Given the description of an element on the screen output the (x, y) to click on. 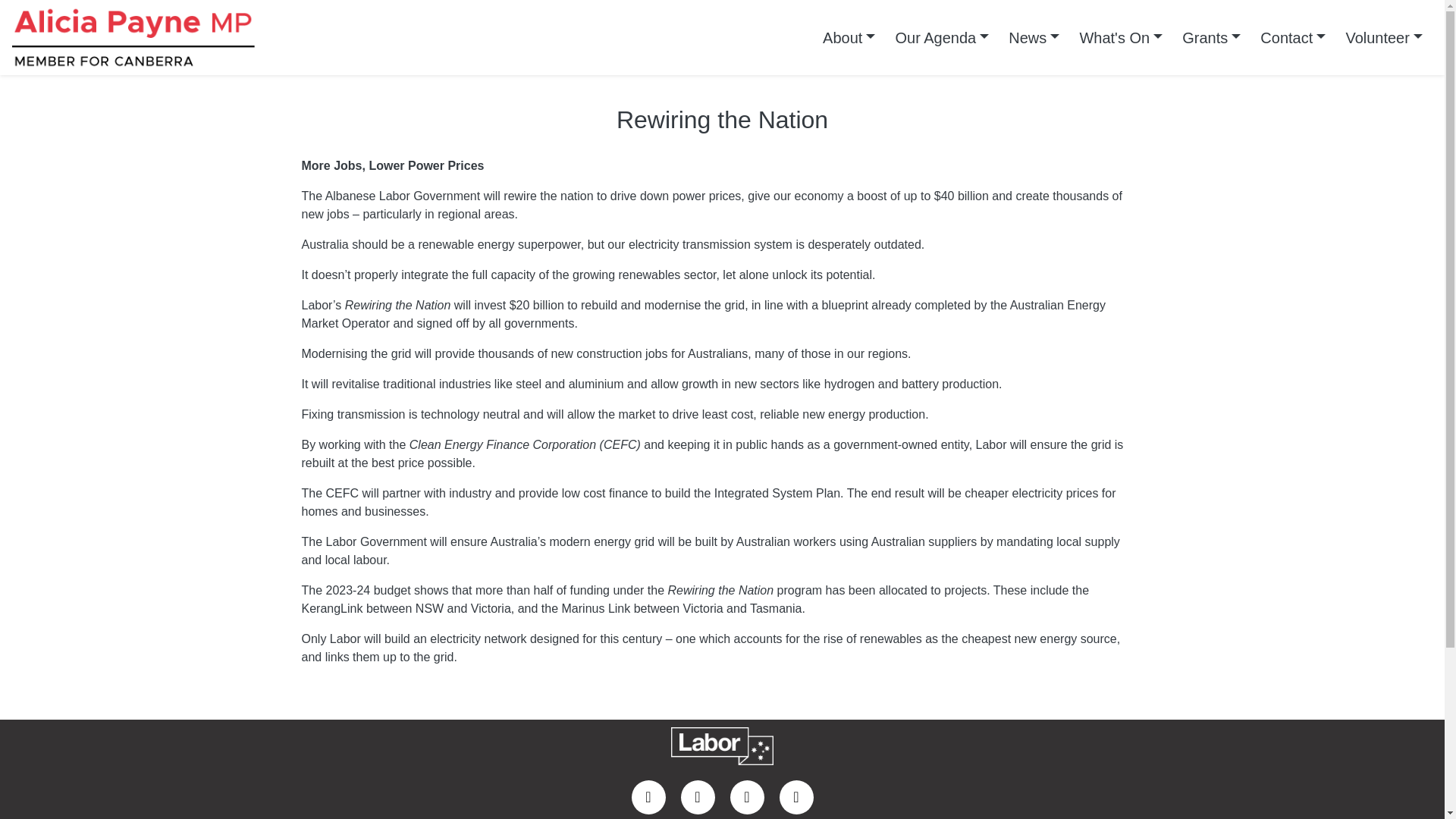
Contact (1292, 37)
Volunteer (1383, 37)
News (1033, 37)
Our Agenda (941, 37)
Grants (1211, 37)
About (848, 37)
What's On (1120, 37)
